Given the description of an element on the screen output the (x, y) to click on. 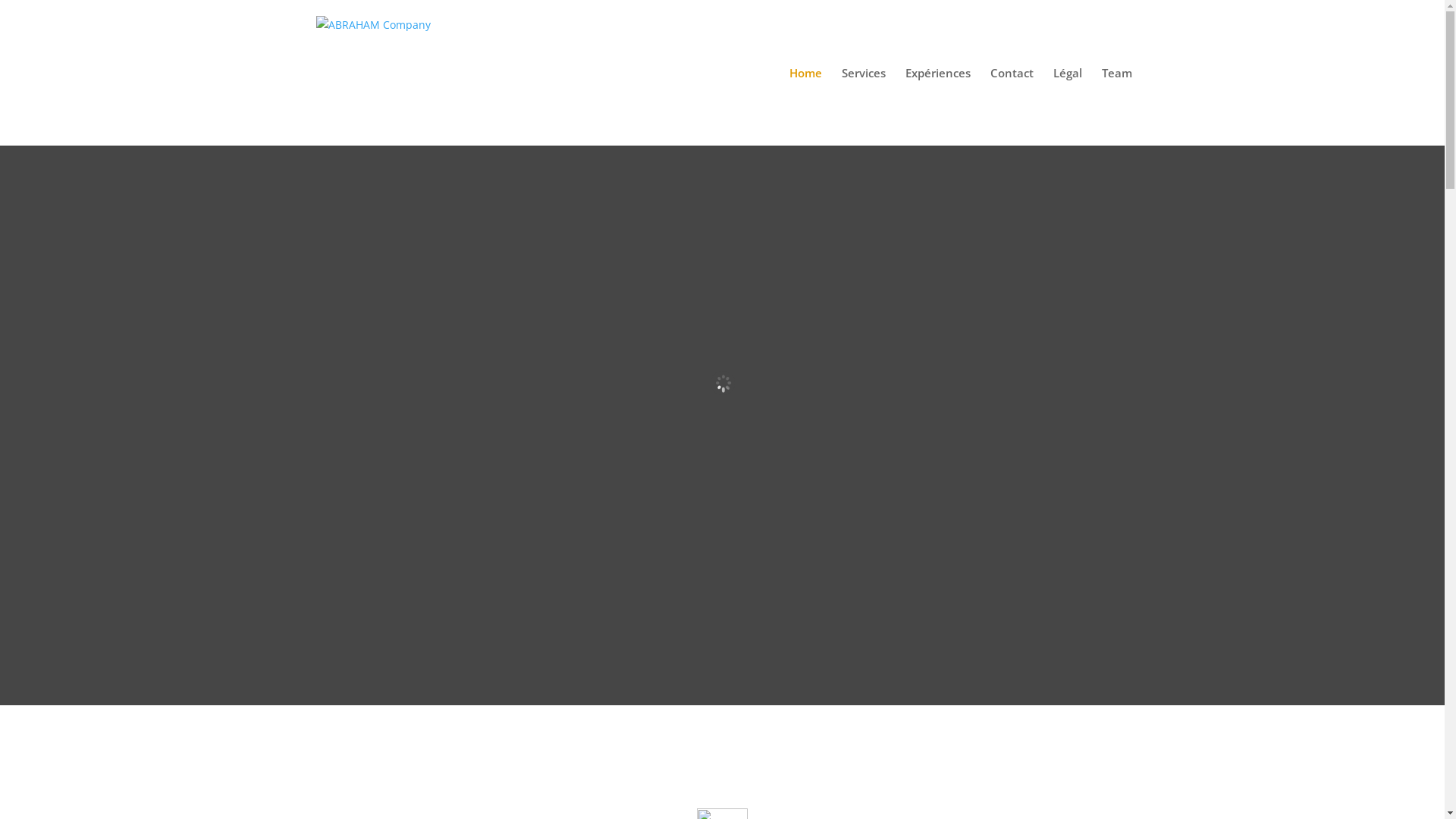
Contact Element type: text (1011, 106)
Services Element type: text (863, 106)
Team Element type: text (1116, 106)
Home Element type: text (804, 106)
